Given the description of an element on the screen output the (x, y) to click on. 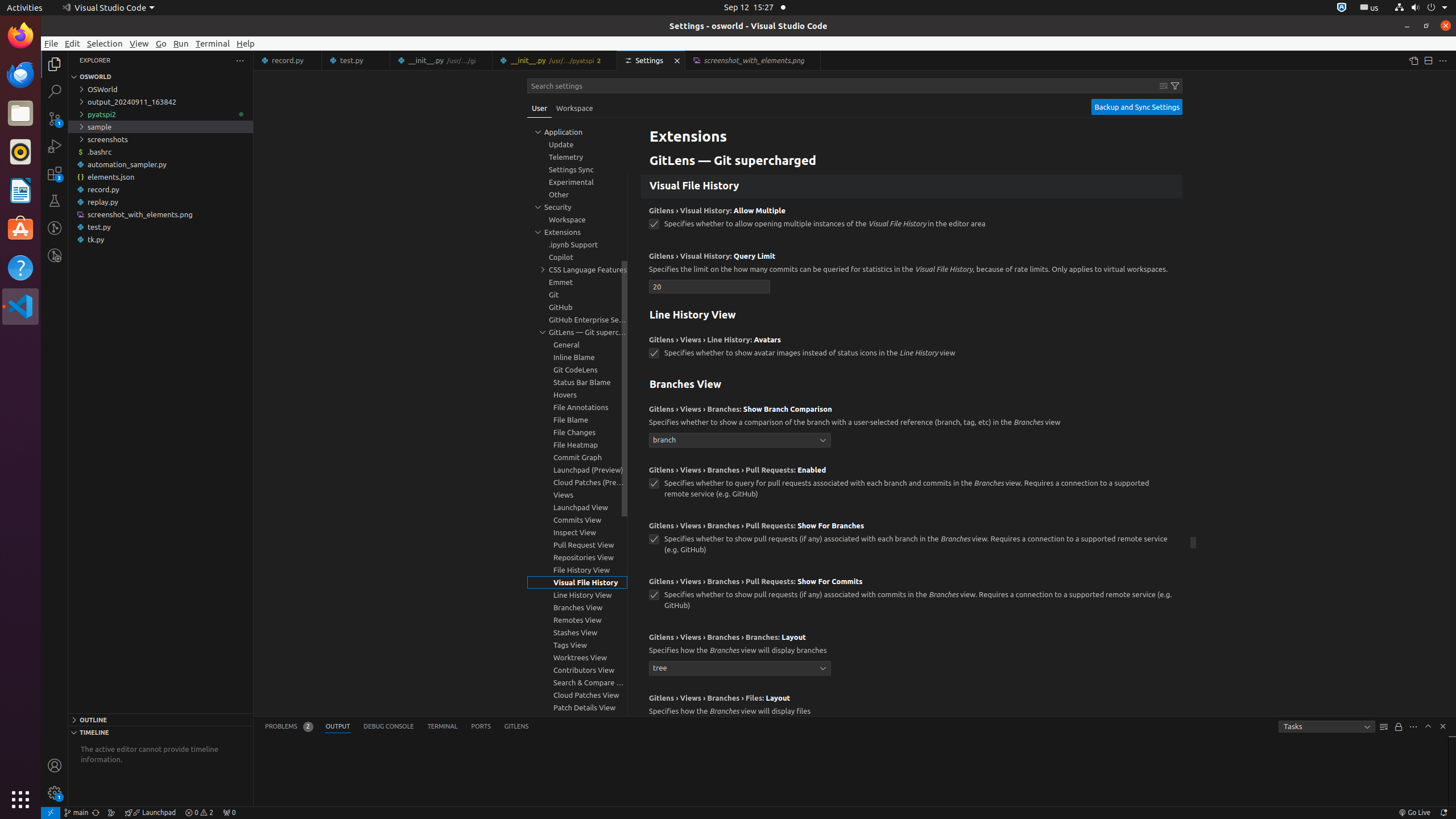
Gitlens › Views › Branches › Pull Requests Show For Branches. Specifies whether to show pull requests (if any) associated with each branch in the Branches view. Requires a connection to a supported remote service (e.g. GitHub)  Element type: tree-item (911, 541)
Commit Graph, group Element type: tree-item (577, 457)
View Element type: push-button (139, 43)
Maximize Panel Size Element type: check-box (1427, 726)
Launchpad (Preview), group Element type: tree-item (577, 469)
